Given the description of an element on the screen output the (x, y) to click on. 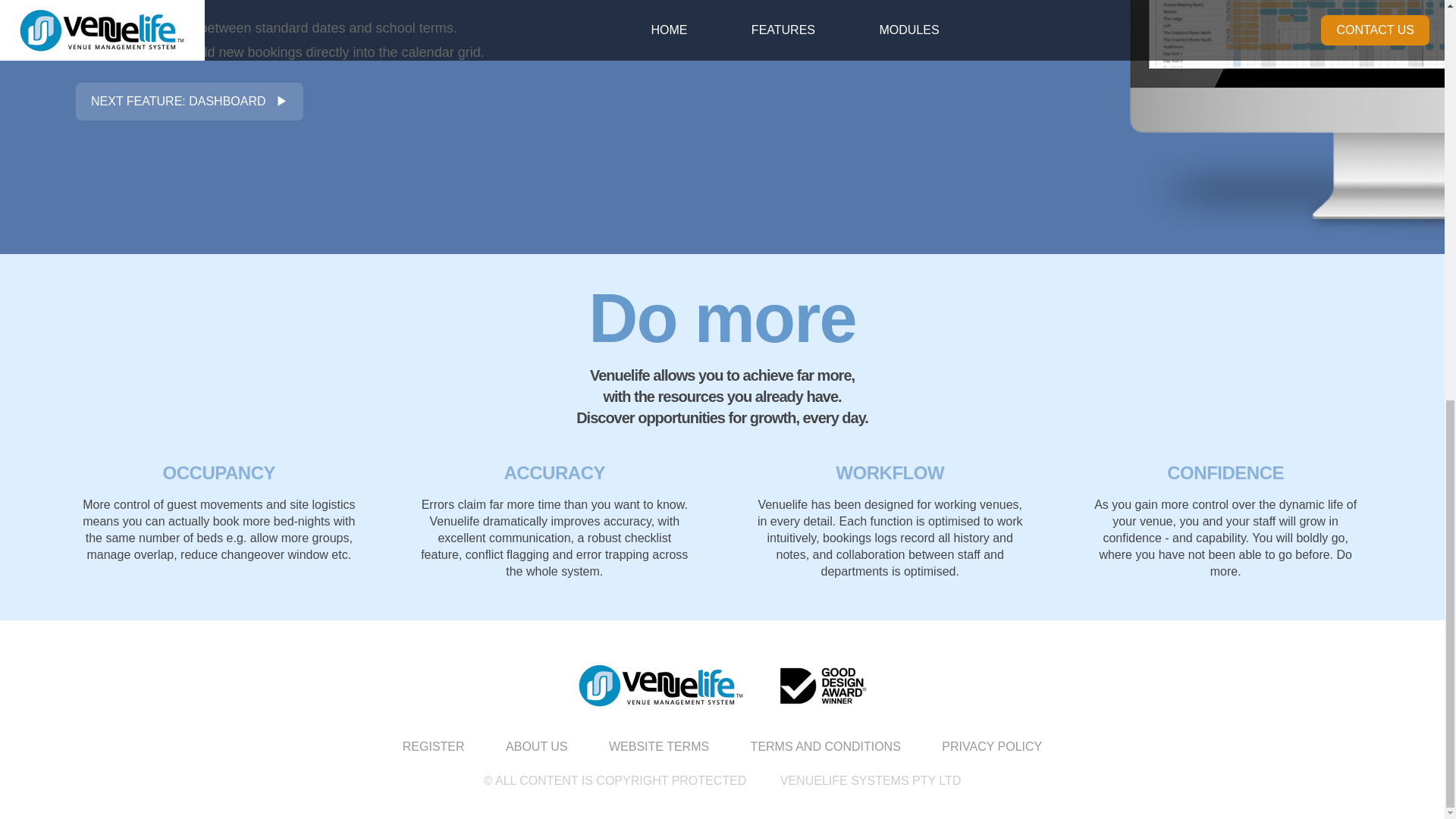
REGISTER (432, 746)
ABOUT US (536, 746)
PRIVACY POLICY (991, 746)
TERMS AND CONDITIONS (825, 746)
WEBSITE TERMS (658, 746)
